Given the description of an element on the screen output the (x, y) to click on. 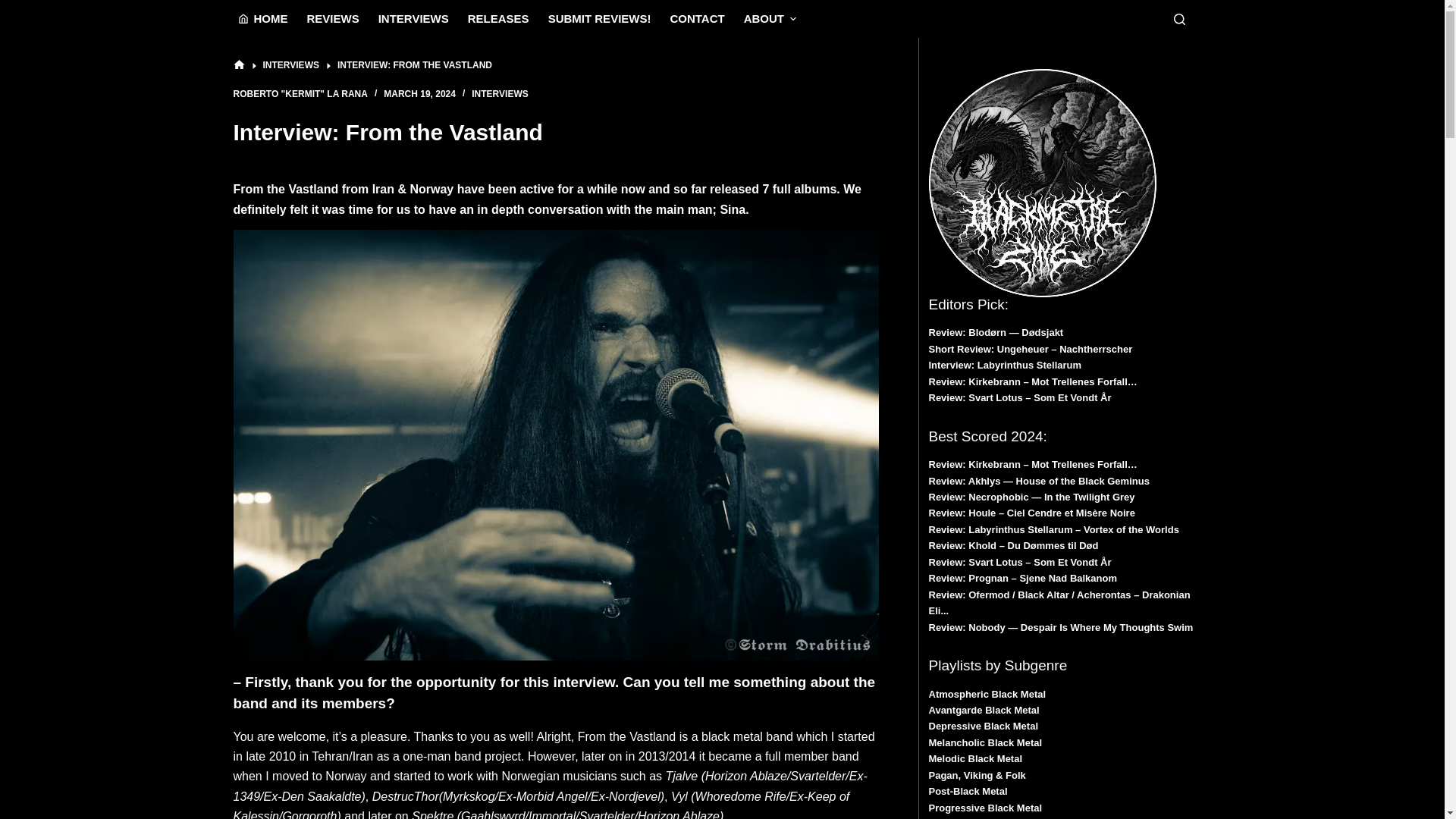
CONTACT (697, 18)
Interview: From the Vastland (555, 132)
INTERVIEWS (290, 65)
SUBMIT REVIEWS! (599, 18)
INTERVIEWS (499, 93)
ABOUT (769, 18)
RELEASES (498, 18)
ROBERTO "KERMIT" LA RANA (300, 93)
INTERVIEWS (413, 18)
HOME (262, 18)
